Given the description of an element on the screen output the (x, y) to click on. 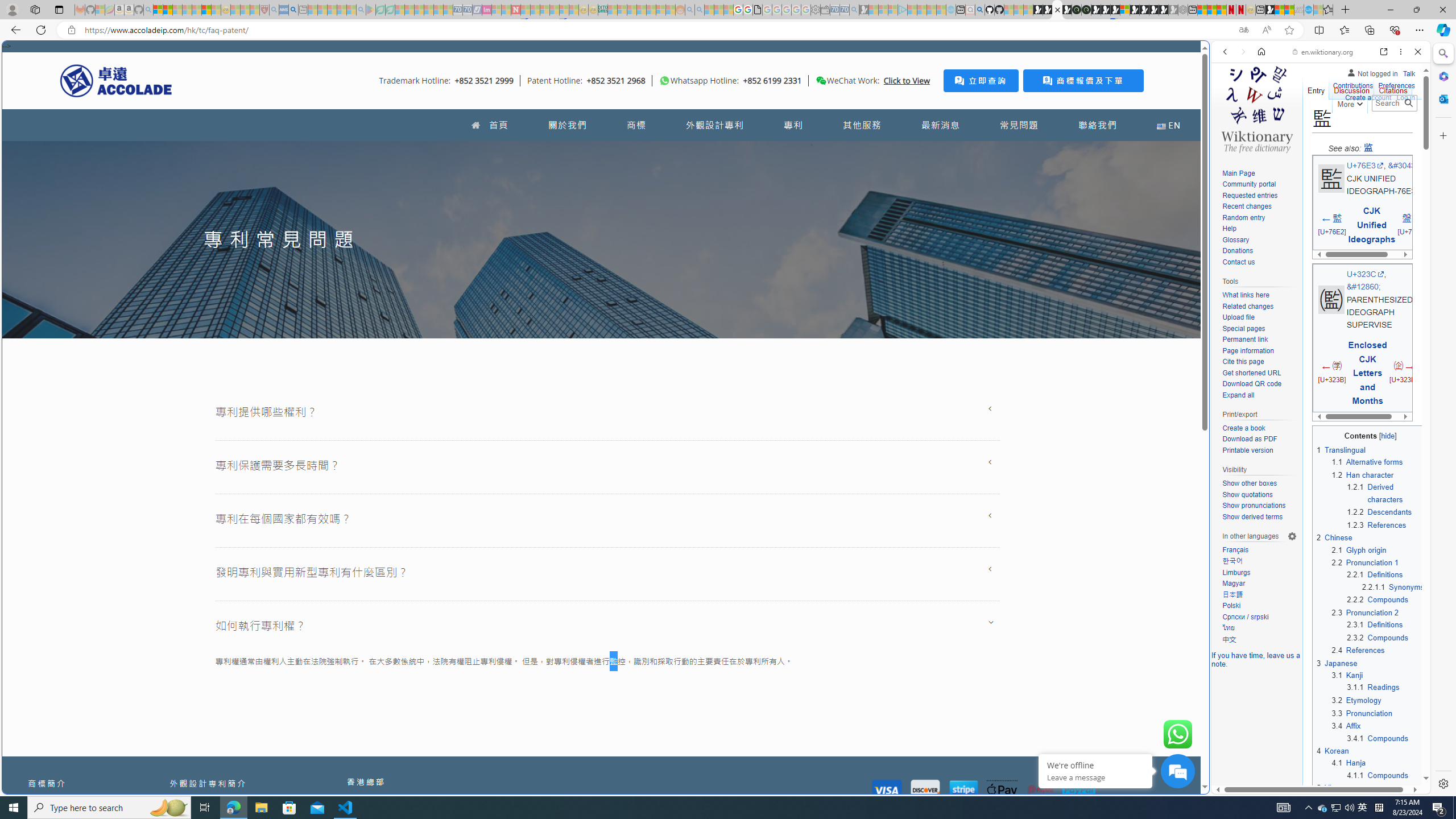
Create a book (1259, 428)
Future Focus Report 2024 (1085, 9)
Show other boxes (1248, 483)
5 Vietnamese (1340, 788)
Get shortened URL (1251, 372)
2 Chinese (1334, 537)
Entry (1316, 87)
Recent changes (1246, 206)
Get shortened URL (1259, 373)
